Given the description of an element on the screen output the (x, y) to click on. 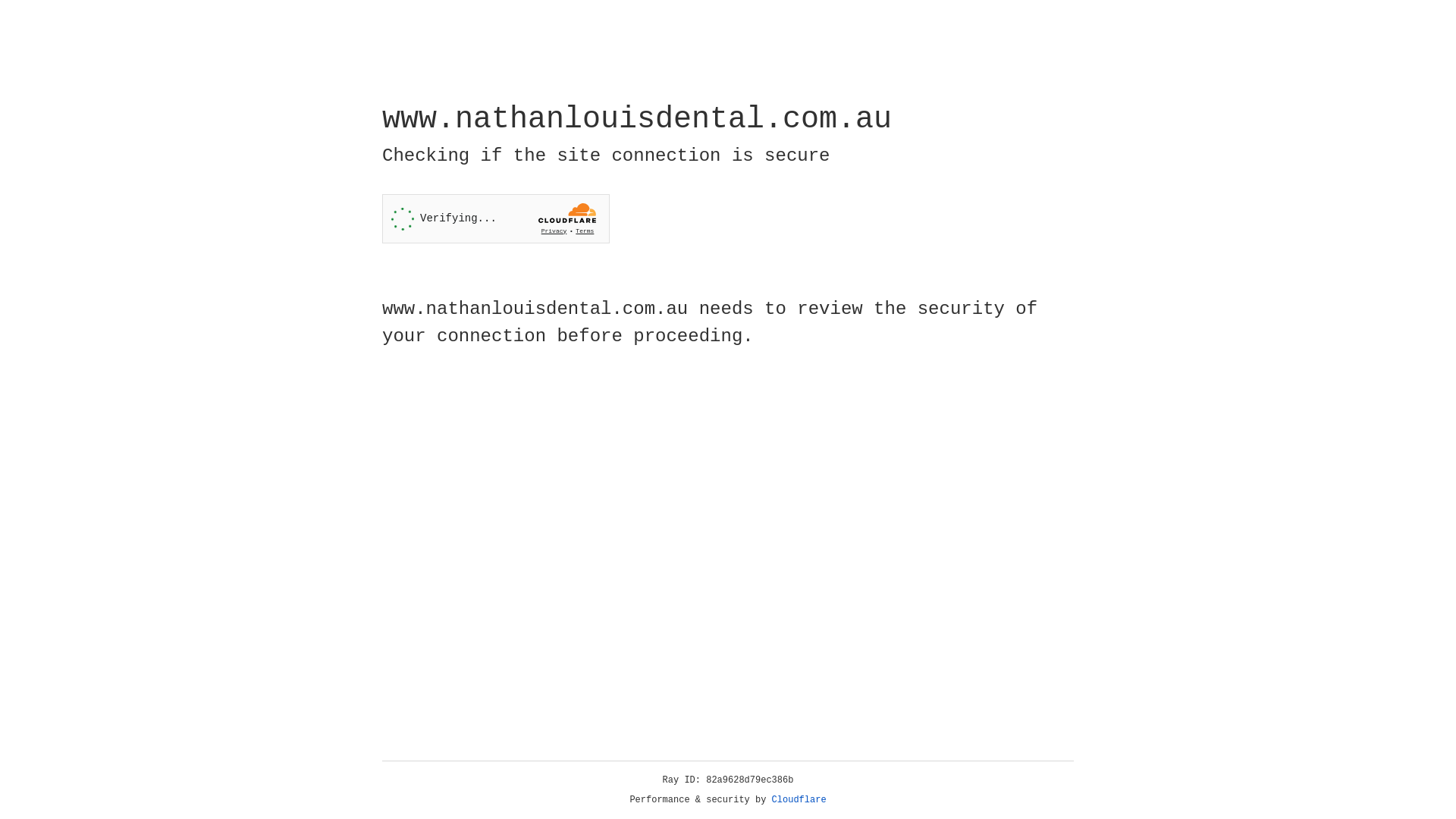
Widget containing a Cloudflare security challenge Element type: hover (495, 218)
Cloudflare Element type: text (798, 799)
